Given the description of an element on the screen output the (x, y) to click on. 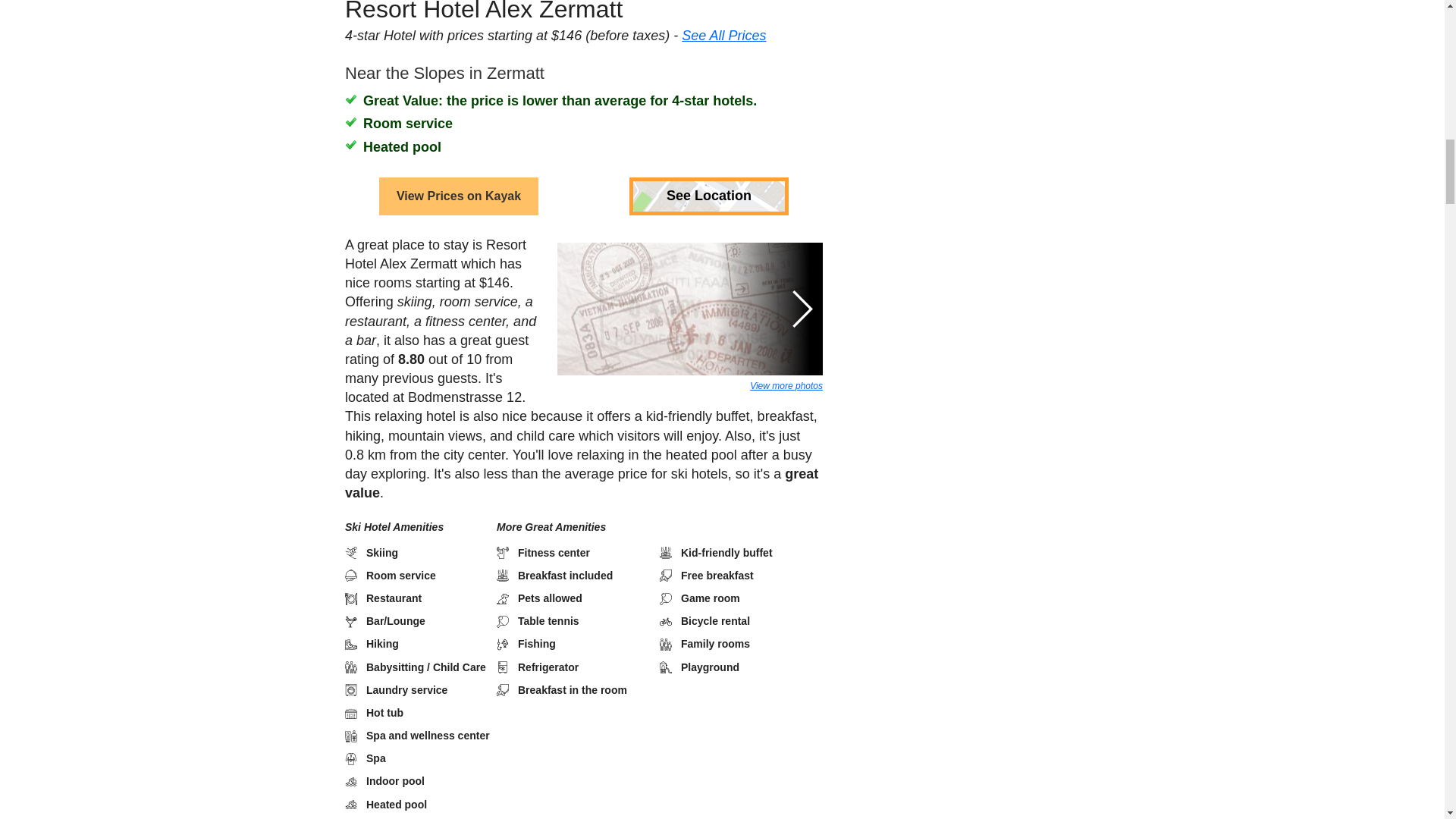
Resort Hotel Alex Zermatt (482, 11)
See All Prices (723, 7)
See Location (708, 150)
View more photos (785, 339)
View Prices on Kayak (458, 150)
